Given the description of an element on the screen output the (x, y) to click on. 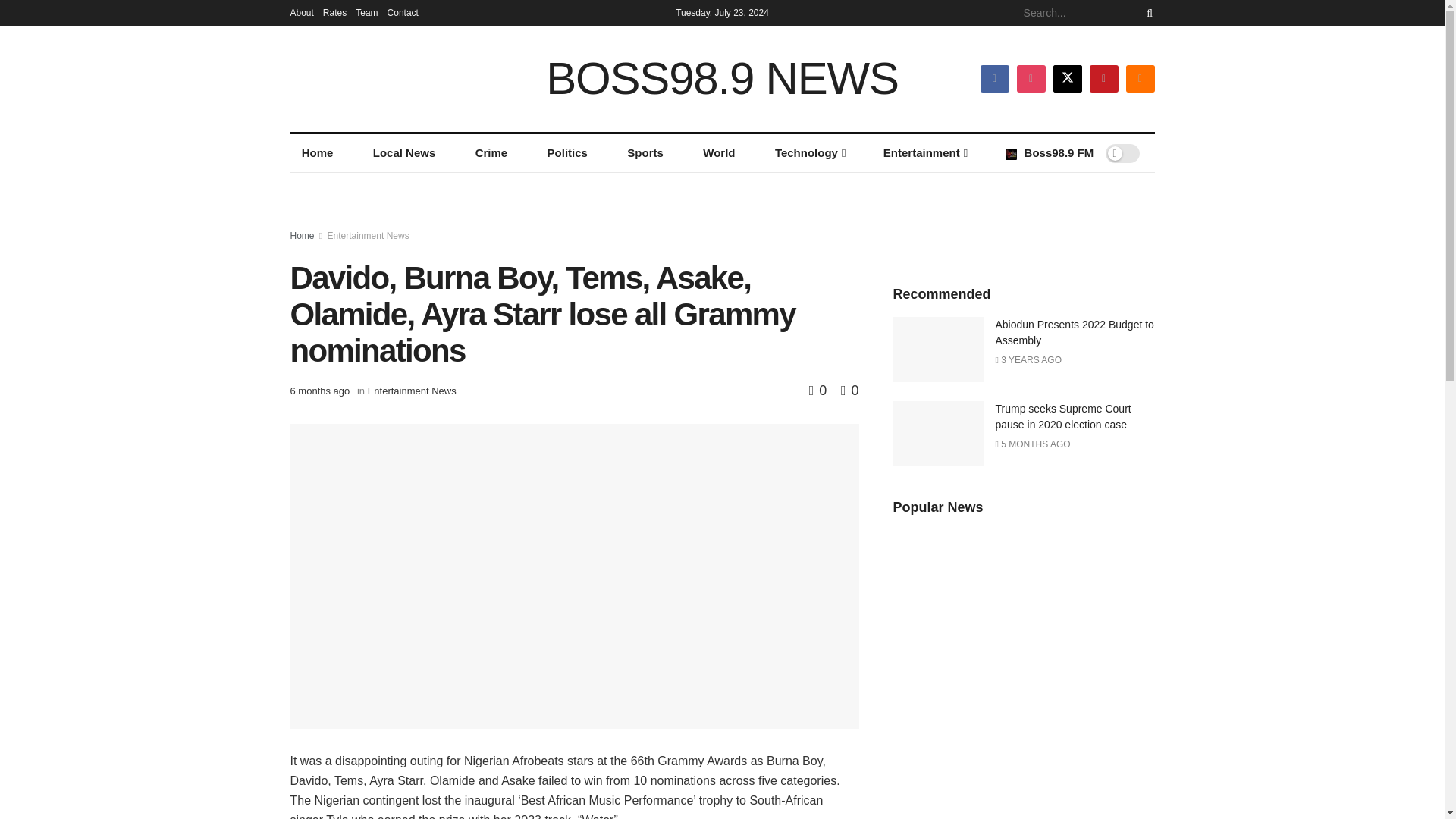
Sports (645, 152)
BOSS98.9 NEWS (722, 78)
Politics (566, 152)
About (301, 12)
Local News (403, 152)
Home (316, 152)
Rates (334, 12)
Entertainment (924, 152)
World (718, 152)
Technology (809, 152)
Crime (491, 152)
Contact (403, 12)
